Given the description of an element on the screen output the (x, y) to click on. 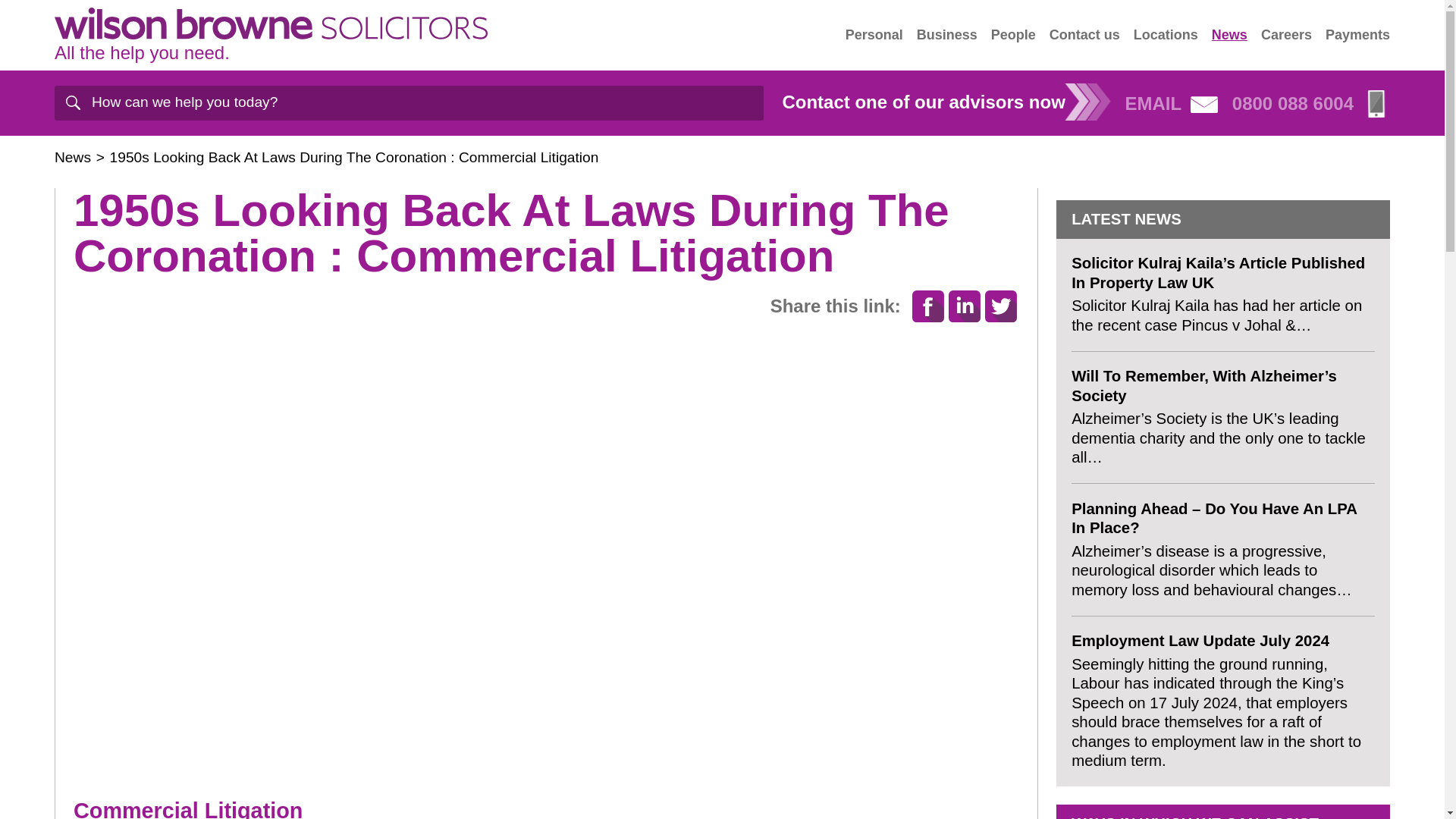
Contact us (1084, 34)
Personal (873, 34)
People (1013, 34)
search (72, 102)
0800 088 6004 (1310, 103)
All the help you need. (271, 35)
News (72, 157)
Careers (1285, 34)
Payments (1357, 34)
Locations (1166, 34)
search (72, 102)
Business (946, 34)
Share this link: (835, 306)
EMAIL (1170, 103)
